Given the description of an element on the screen output the (x, y) to click on. 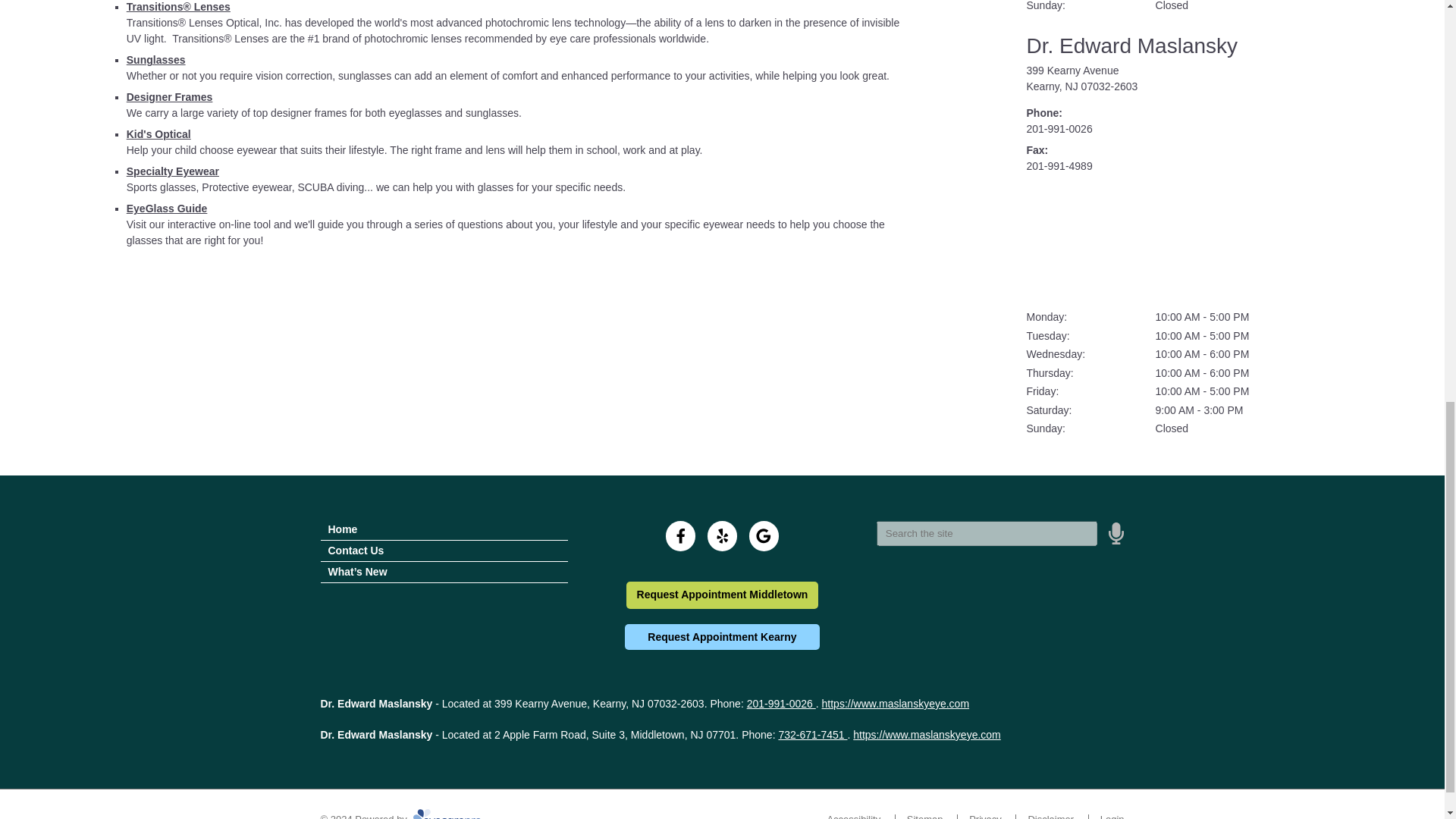
Designer Frames (169, 96)
EyeGlass Guide (167, 208)
Specialty Eyewear (172, 171)
Speak Field (986, 532)
Sunglasses (156, 60)
Kid's Optical (158, 133)
Google map (1227, 241)
